Given the description of an element on the screen output the (x, y) to click on. 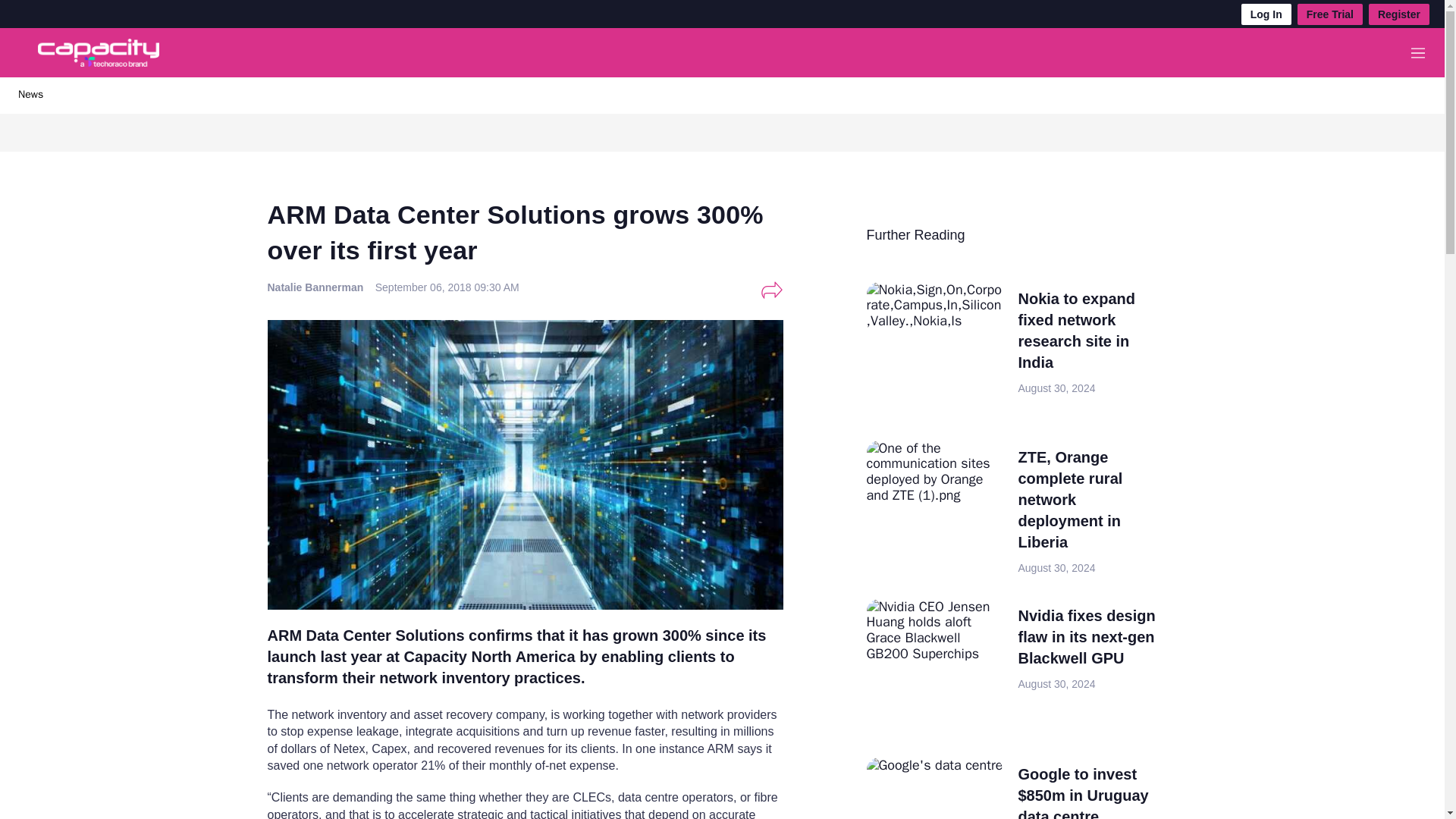
Free Trial (1329, 13)
Log In (1266, 13)
Register (1398, 13)
Share (771, 290)
